Given the description of an element on the screen output the (x, y) to click on. 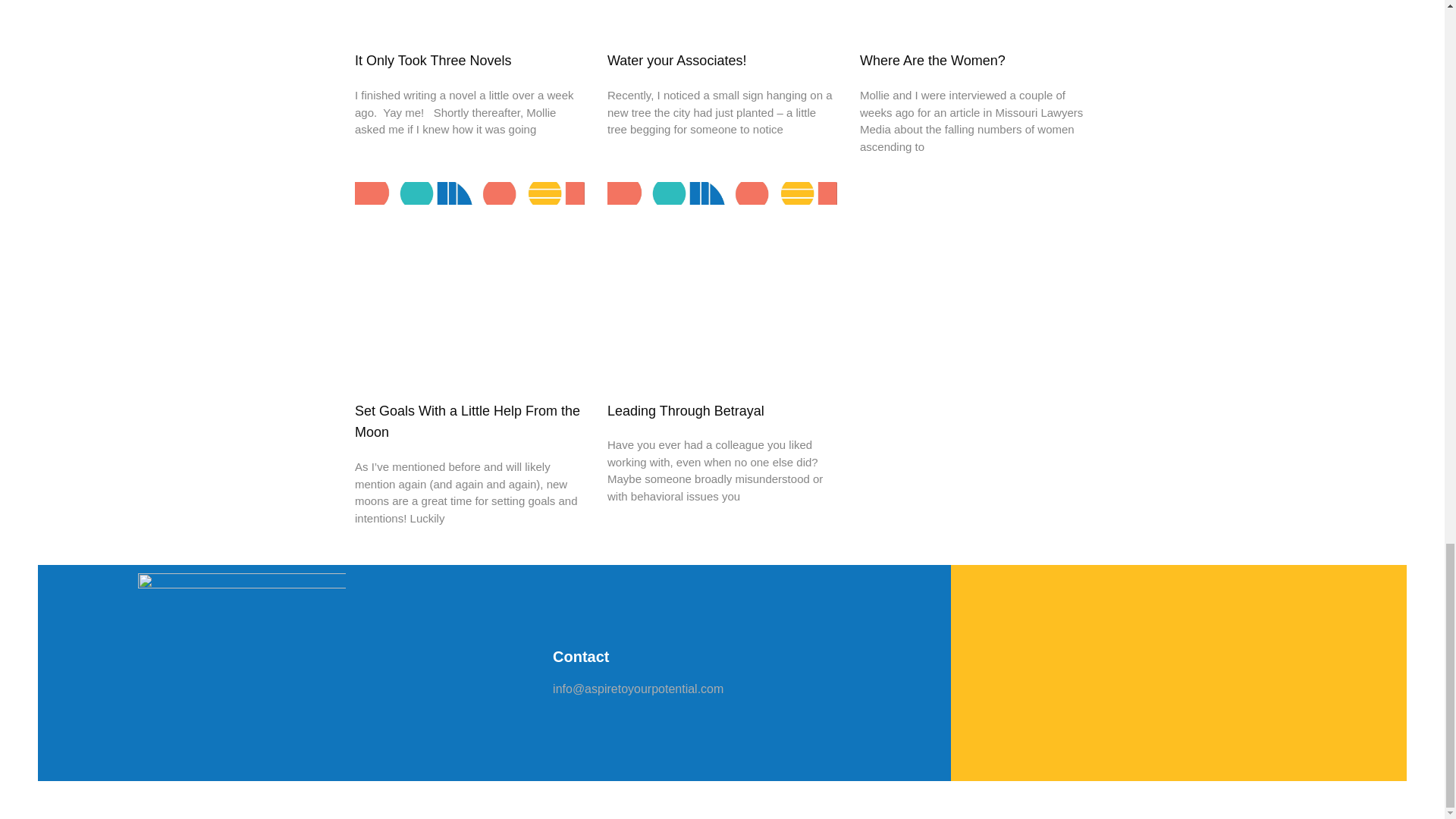
Set Goals With a Little Help From the Moon (467, 421)
Water your Associates! (676, 60)
It Only Took Three Novels (433, 60)
Where Are the Women? (933, 60)
Leading Through Betrayal (685, 410)
